Given the description of an element on the screen output the (x, y) to click on. 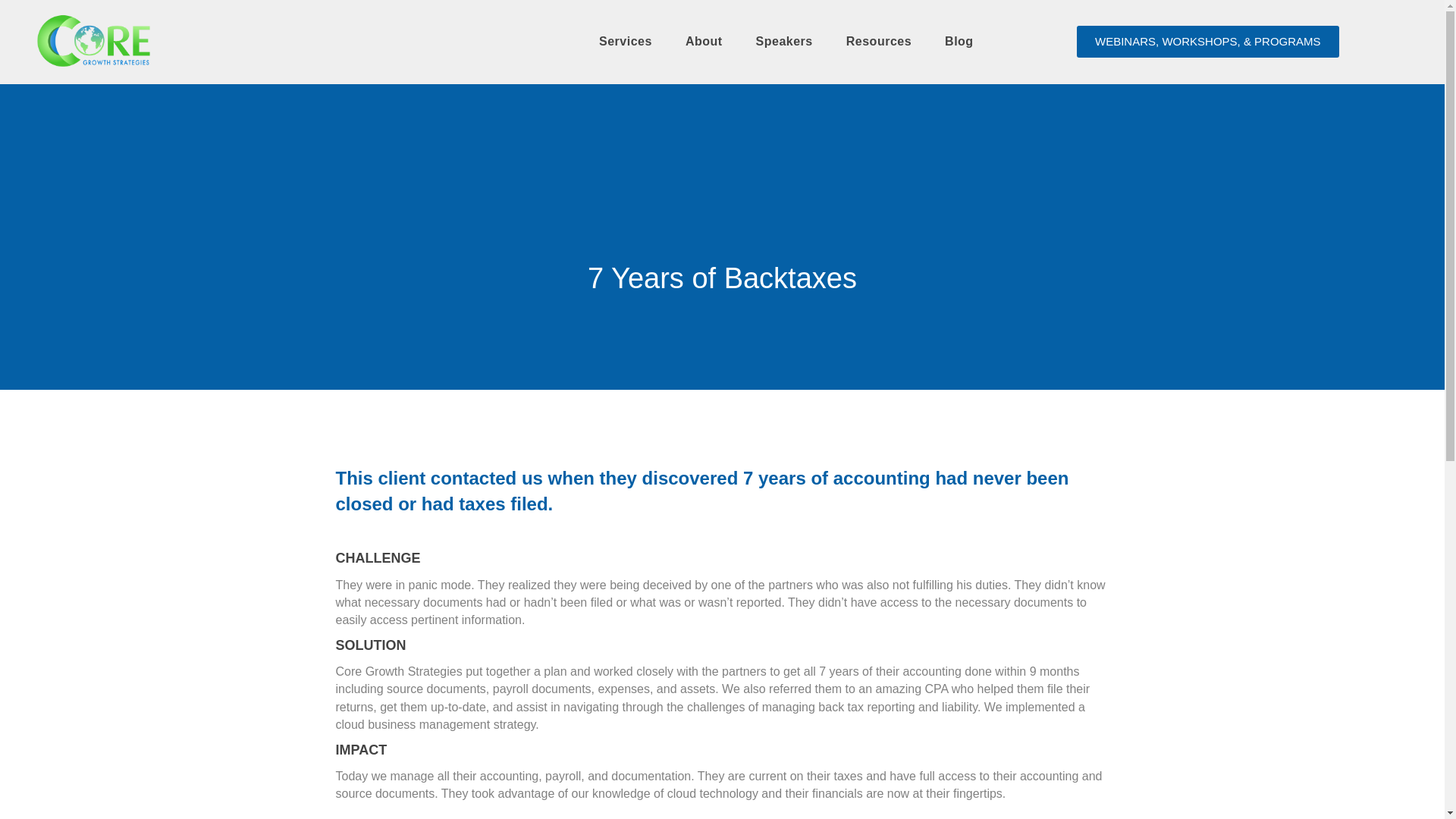
CORElogotransparent-500x267-1 (94, 41)
Services (625, 41)
Resources (878, 41)
Speakers (784, 41)
Blog (959, 41)
About (704, 41)
